Given the description of an element on the screen output the (x, y) to click on. 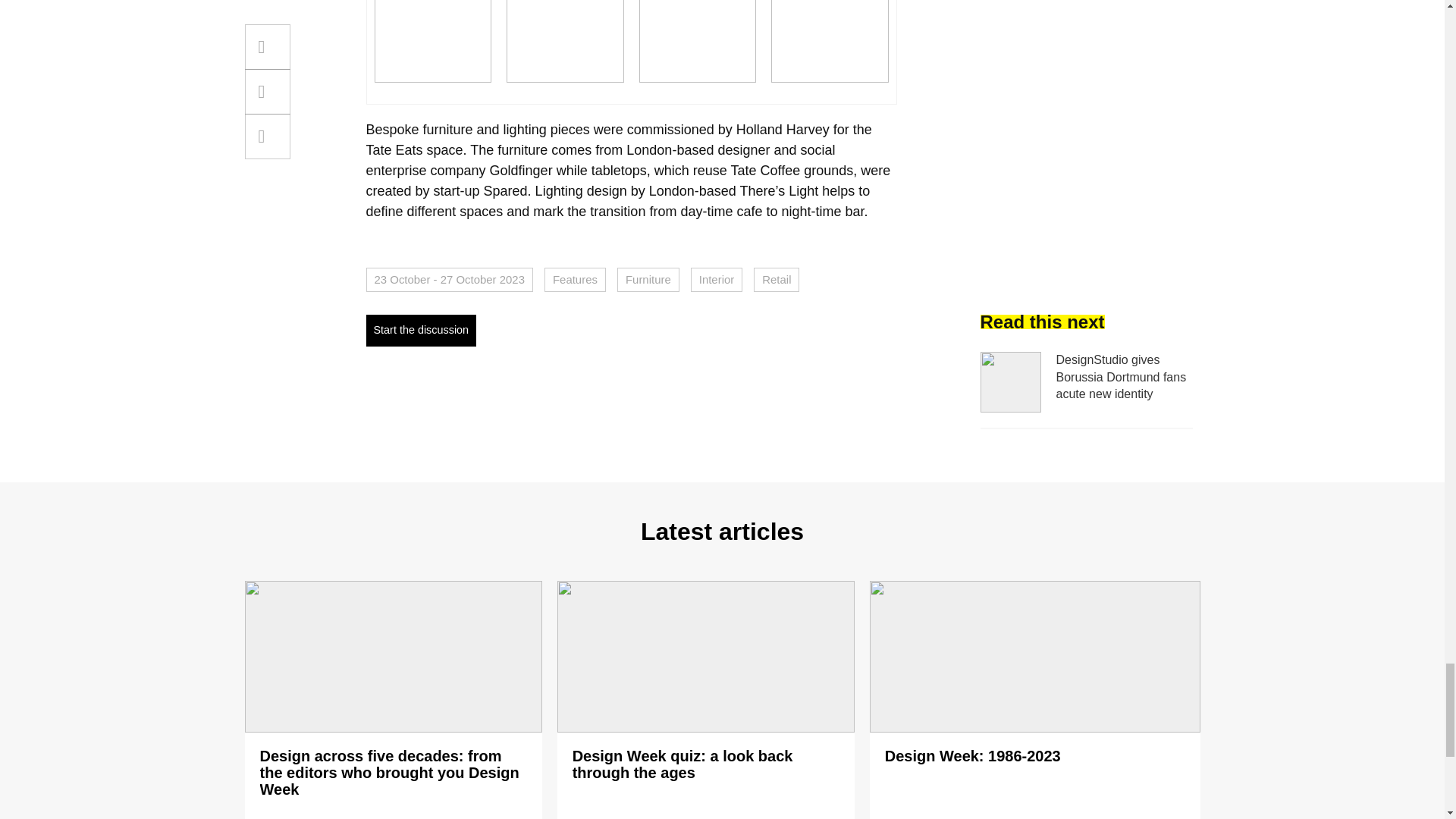
Furniture (648, 279)
Features (574, 279)
Interior (716, 279)
23 October - 27 October 2023 (448, 279)
Retail (776, 279)
